Given the description of an element on the screen output the (x, y) to click on. 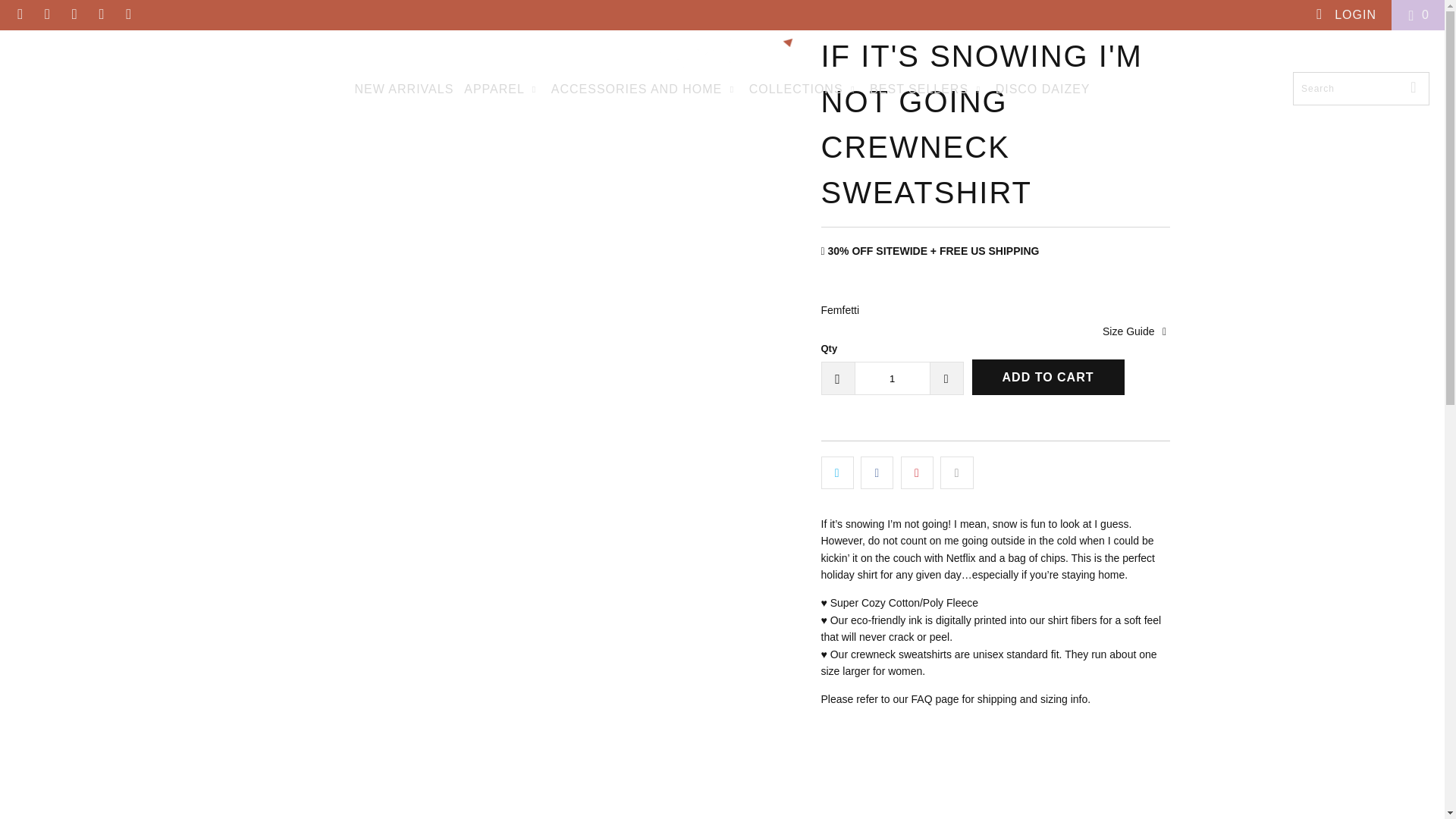
Share this on Facebook (876, 472)
Email Femfetti (127, 14)
Femfetti on Facebook (47, 14)
Femfetti (840, 309)
Femfetti on Twitter (19, 14)
Share this on Pinterest (917, 472)
Femfetti on Pinterest (73, 14)
Femfetti (722, 54)
1 (891, 377)
My Account  (1345, 15)
